Given the description of an element on the screen output the (x, y) to click on. 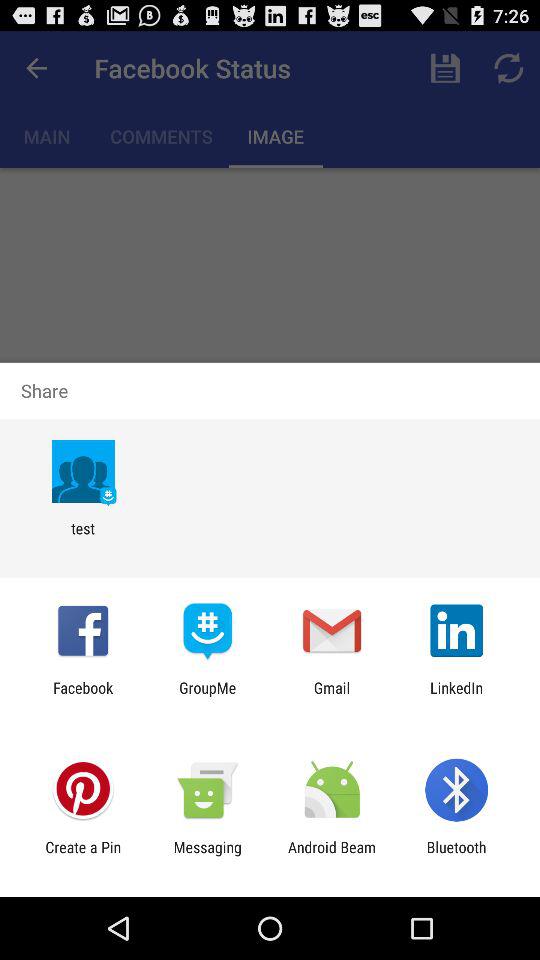
turn on app to the right of the groupme (331, 696)
